Given the description of an element on the screen output the (x, y) to click on. 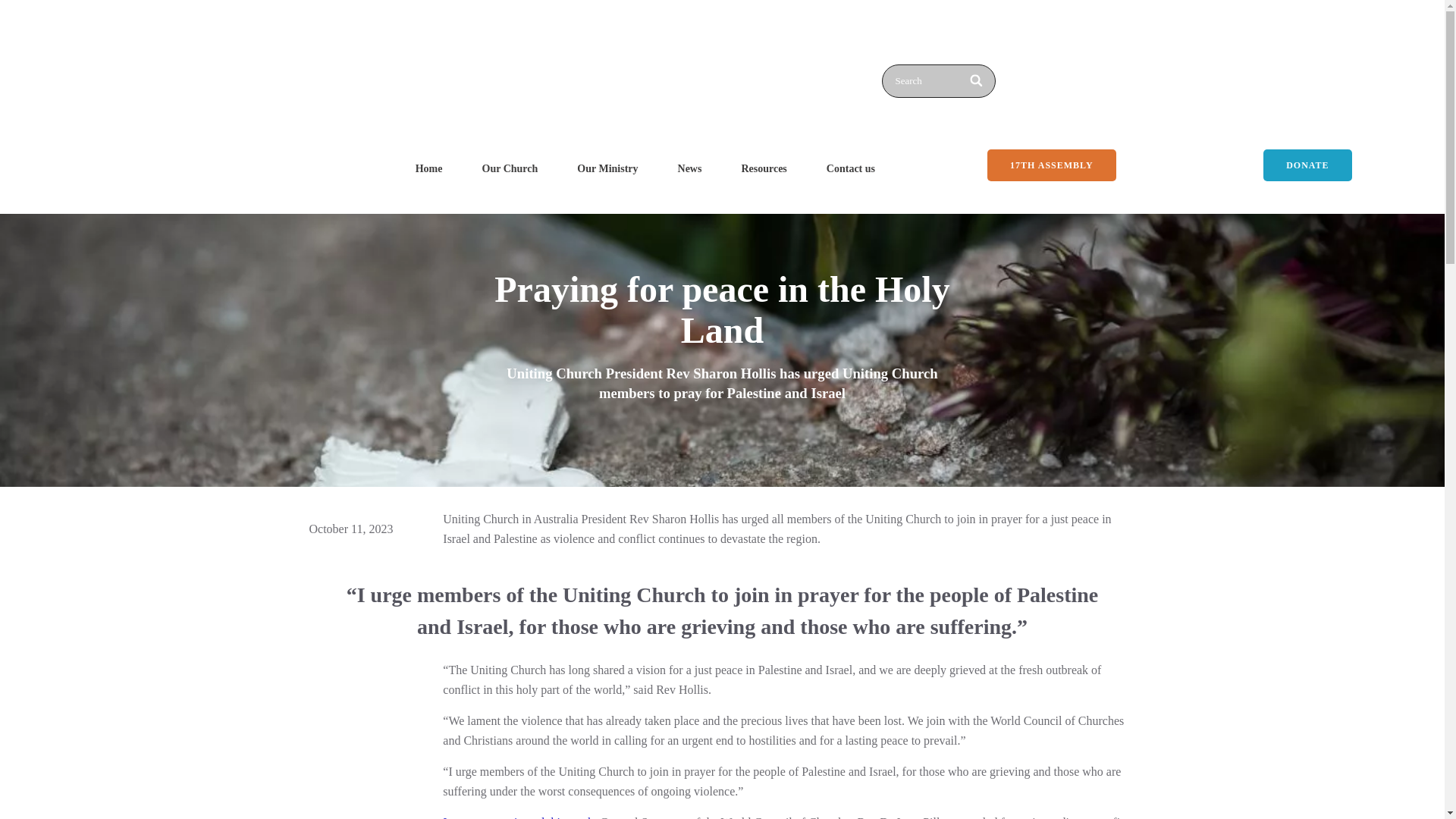
Search (937, 80)
DONATE (1307, 164)
17TH ASSEMBLY (1051, 164)
Our Ministry (607, 168)
Our Church (510, 168)
News (690, 168)
Contact us (850, 168)
Resources (763, 168)
uniting-church-in-australia-assembly-logo (492, 66)
In a statement issued this week (518, 817)
